Given the description of an element on the screen output the (x, y) to click on. 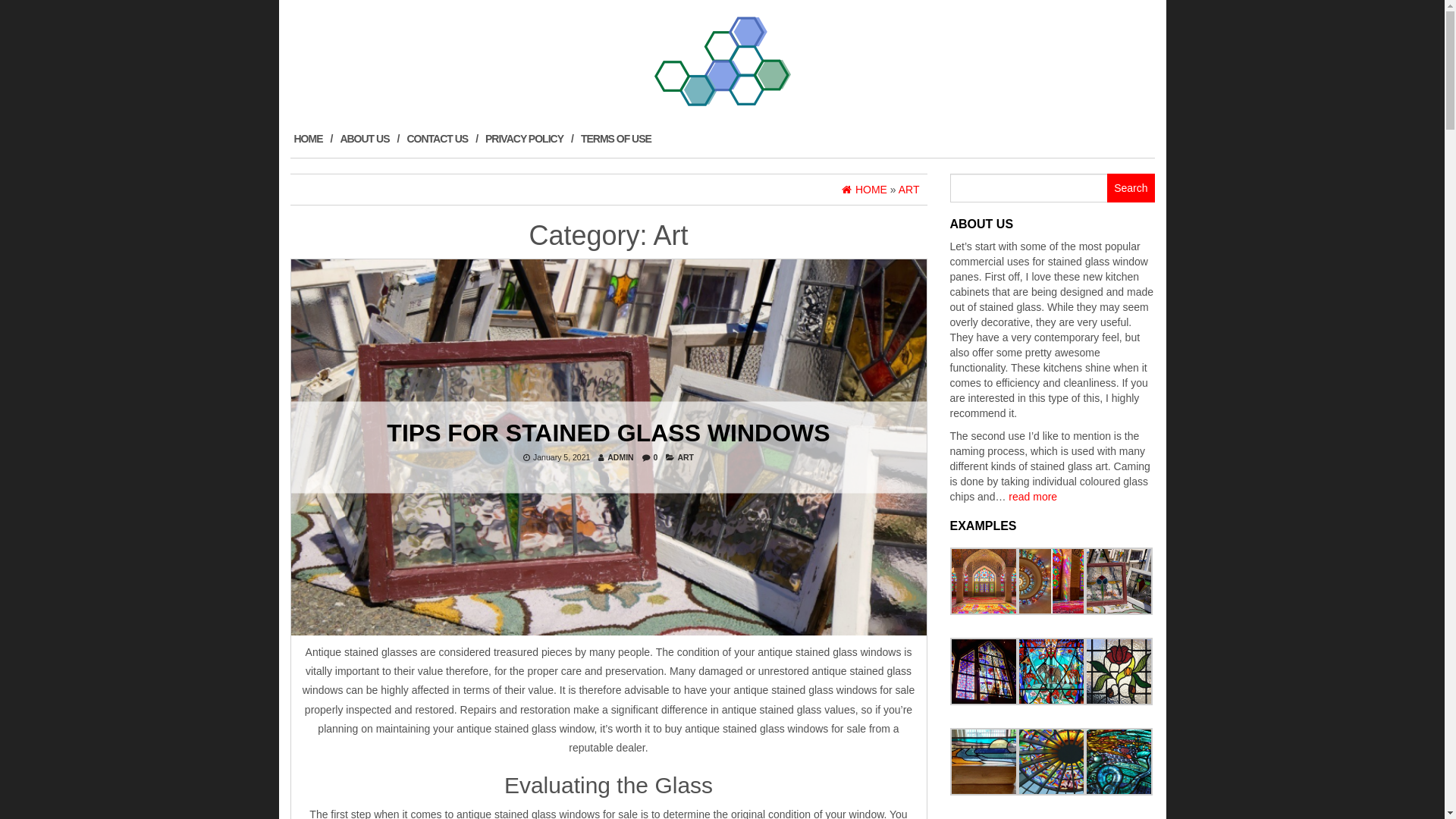
ART Element type: text (685, 456)
HOME Element type: text (312, 138)
CONTACT US Element type: text (441, 138)
ABOUT US Element type: text (368, 138)
0 Element type: text (655, 456)
TIPS FOR STAINED GLASS WINDOWS Element type: text (607, 431)
Search Element type: text (1130, 187)
TERMS OF USE Element type: text (619, 138)
PRIVACY POLICY Element type: text (529, 138)
HOME Element type: text (864, 189)
ADMIN Element type: text (620, 456)
ART Element type: text (908, 189)
read more Element type: text (1032, 496)
